Given the description of an element on the screen output the (x, y) to click on. 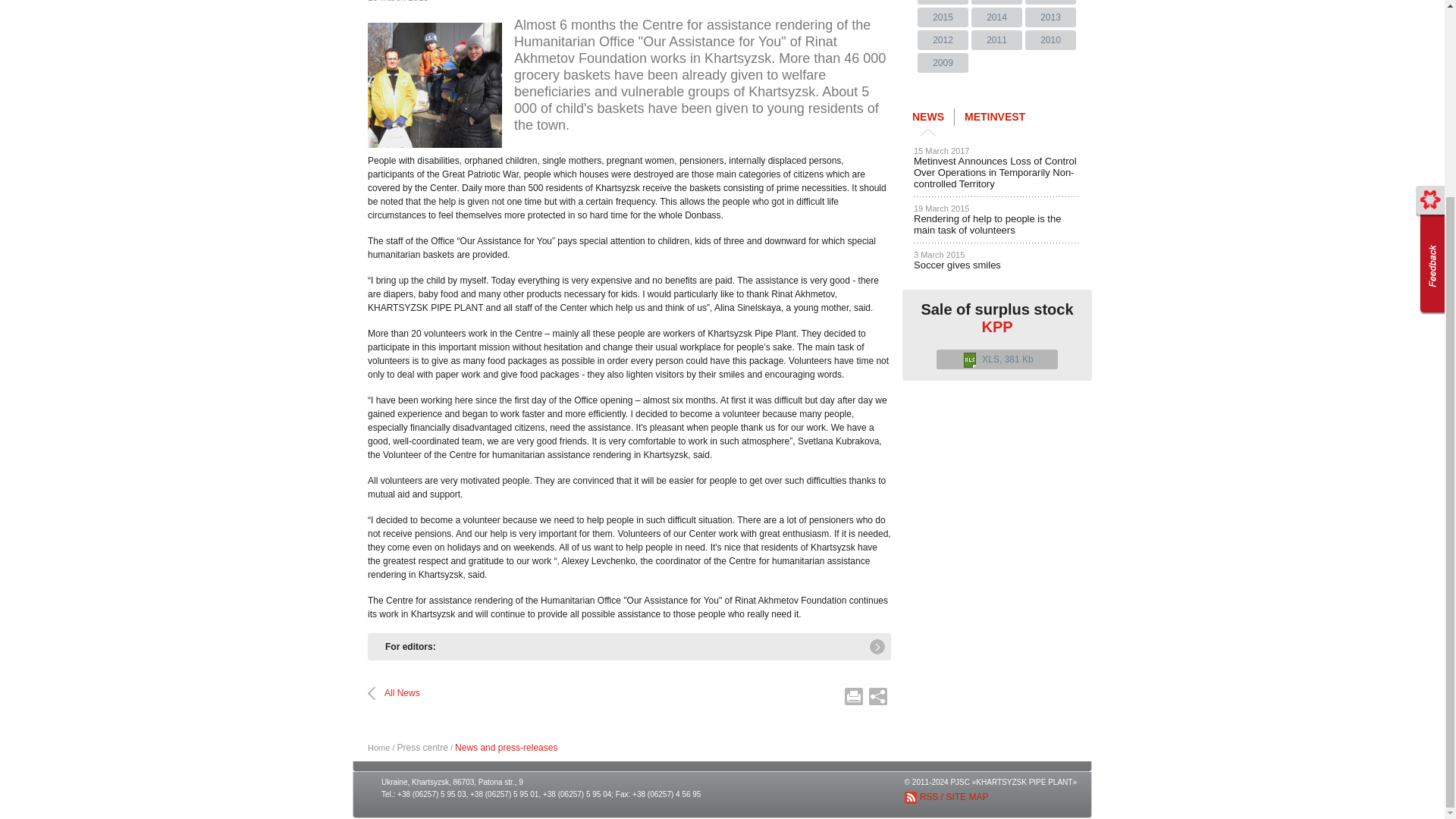
News and press-releases (505, 747)
KHARTSYZSK PIPE PLANT  (379, 747)
Press centre (422, 747)
Rendering of help to people is the main task of volunteers (435, 85)
